Given the description of an element on the screen output the (x, y) to click on. 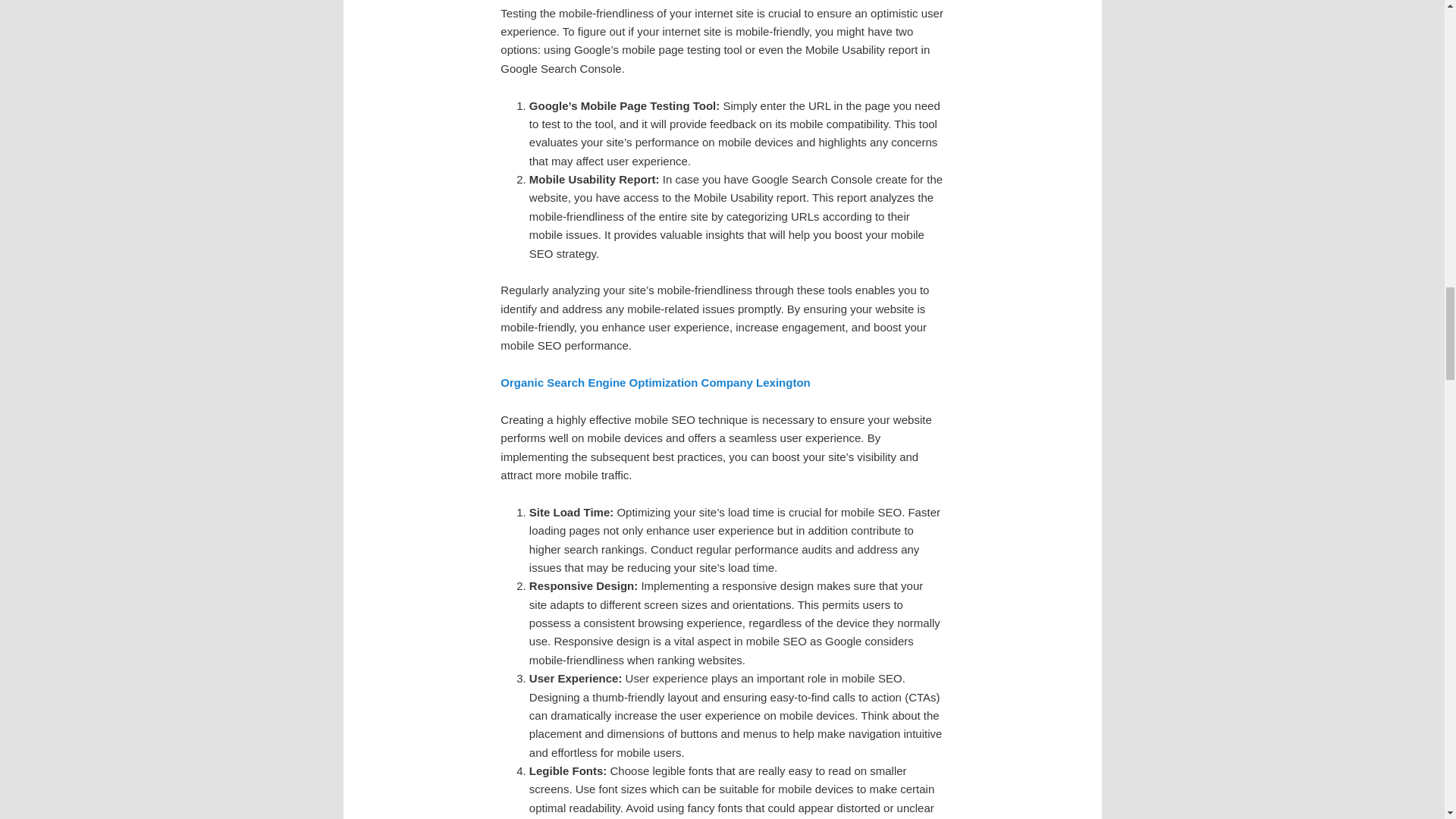
Organic Search Engine Optimization Company Lexington (654, 382)
